Given the description of an element on the screen output the (x, y) to click on. 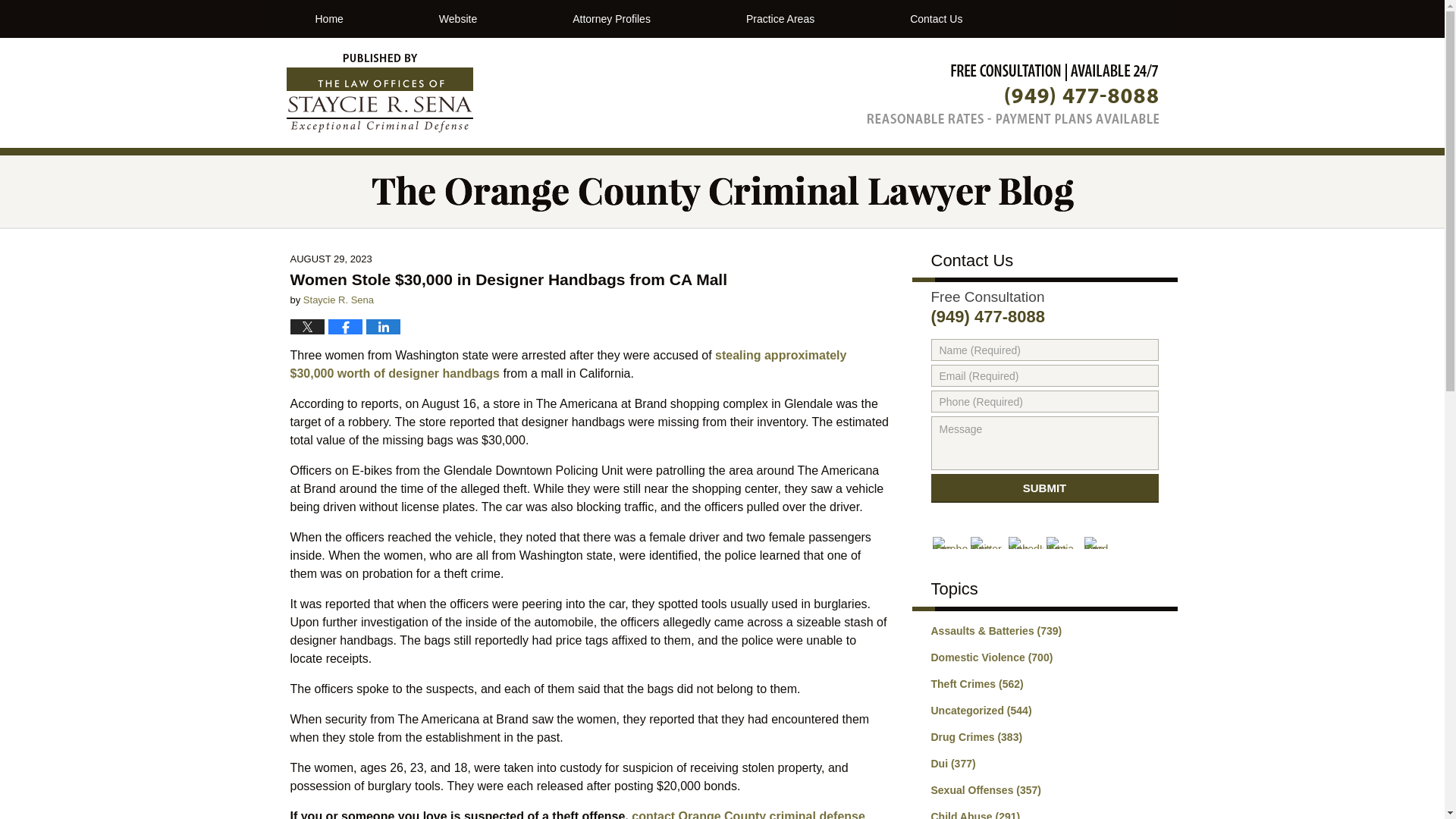
Practice Areas (779, 18)
Justia (1064, 542)
Published By Law Offices Of Staycie R. Sena (1012, 93)
Staycie R. Sena (338, 299)
Please enter a valid phone number. (1044, 401)
Attorney Profiles (611, 18)
Home (328, 18)
LinkedIn (1026, 542)
Website (457, 18)
The Orange County Criminal Lawyer Blog (379, 93)
